Given the description of an element on the screen output the (x, y) to click on. 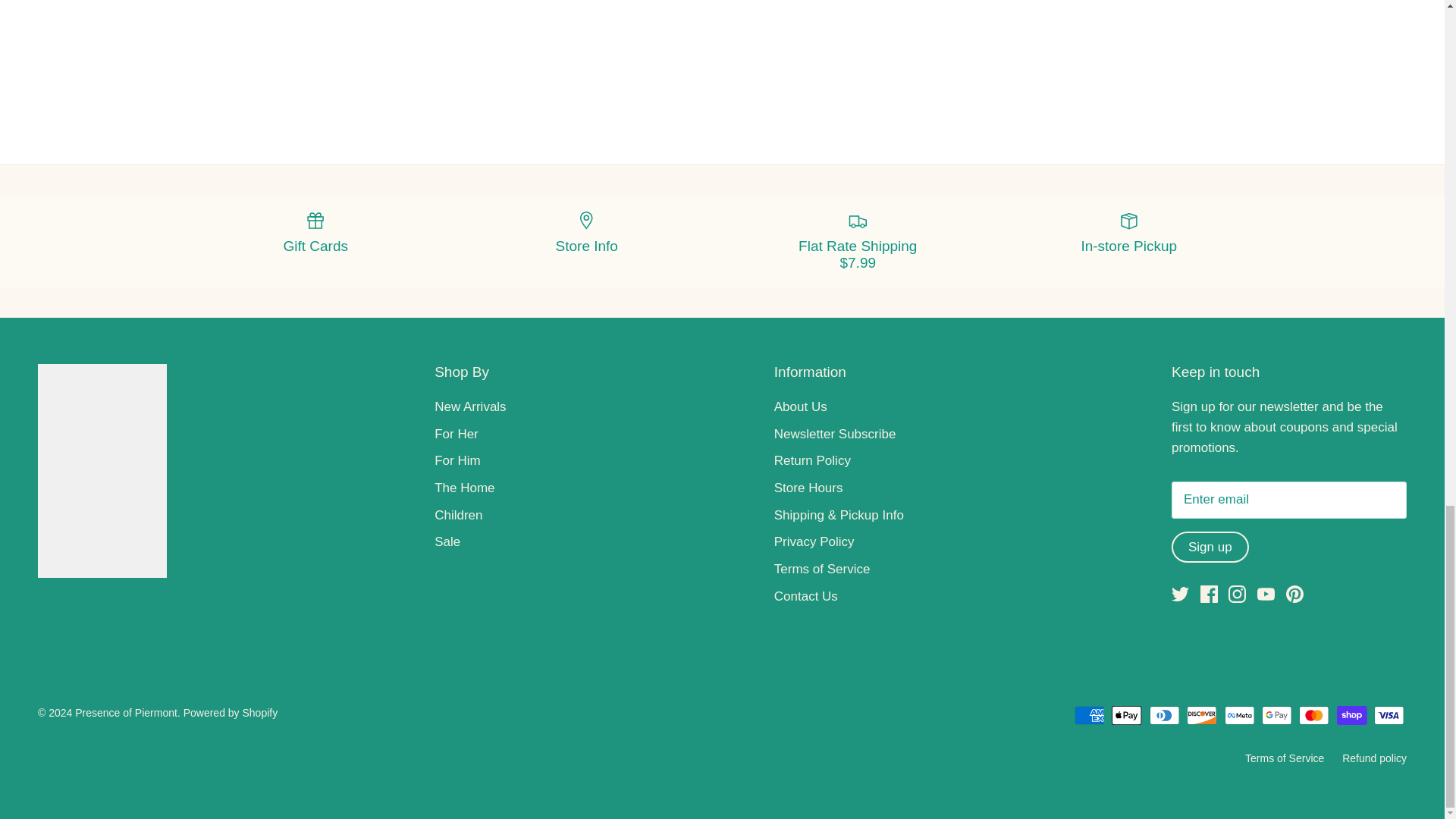
Google Pay (1276, 714)
Meta Pay (1239, 714)
Diners Club (1164, 714)
Facebook (1208, 593)
Pinterest (1294, 593)
Instagram (1237, 593)
Twitter (1180, 593)
American Express (1089, 714)
Discover (1201, 714)
Youtube (1266, 593)
